Given the description of an element on the screen output the (x, y) to click on. 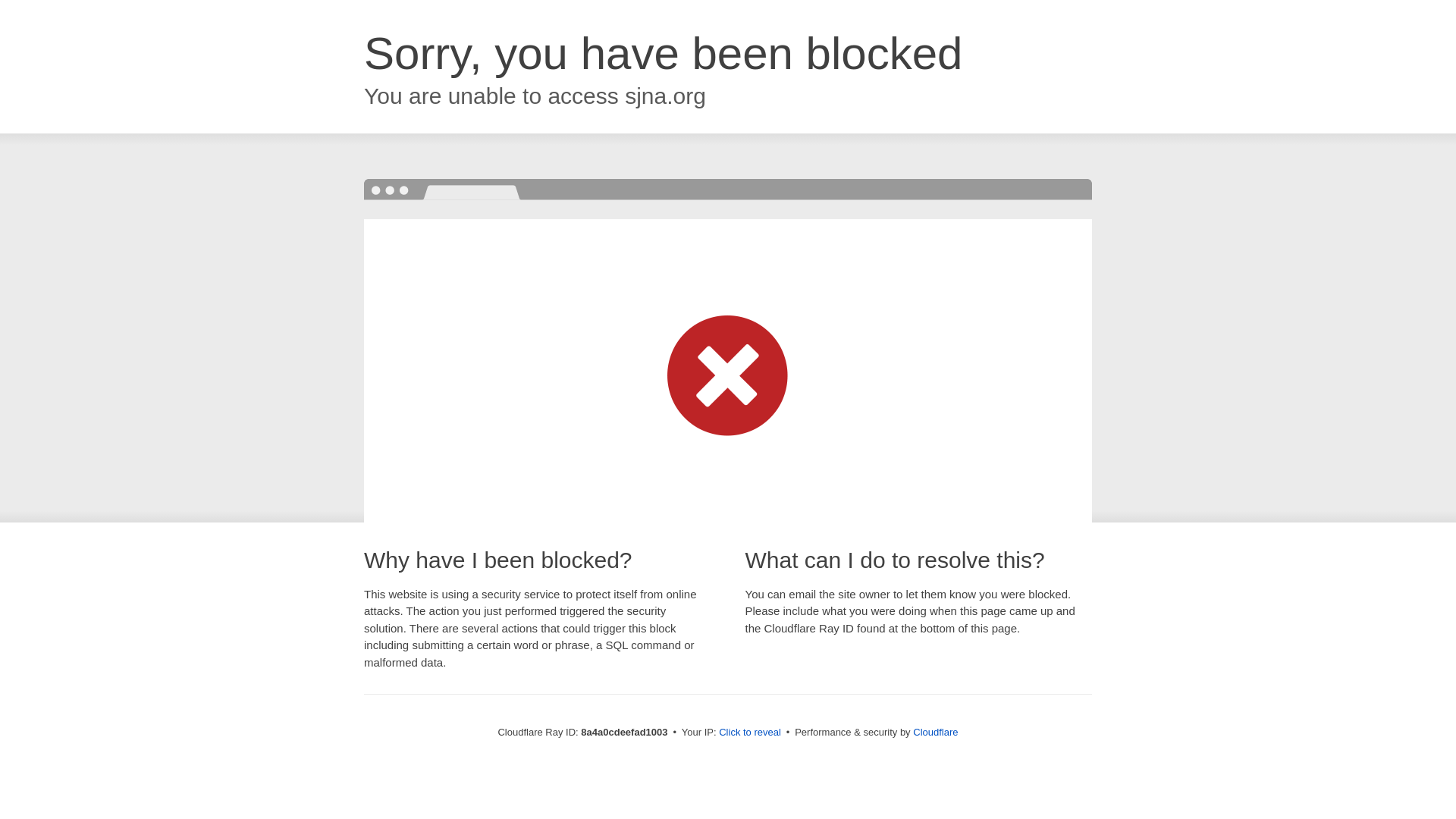
Cloudflare (935, 731)
Click to reveal (749, 732)
